Given the description of an element on the screen output the (x, y) to click on. 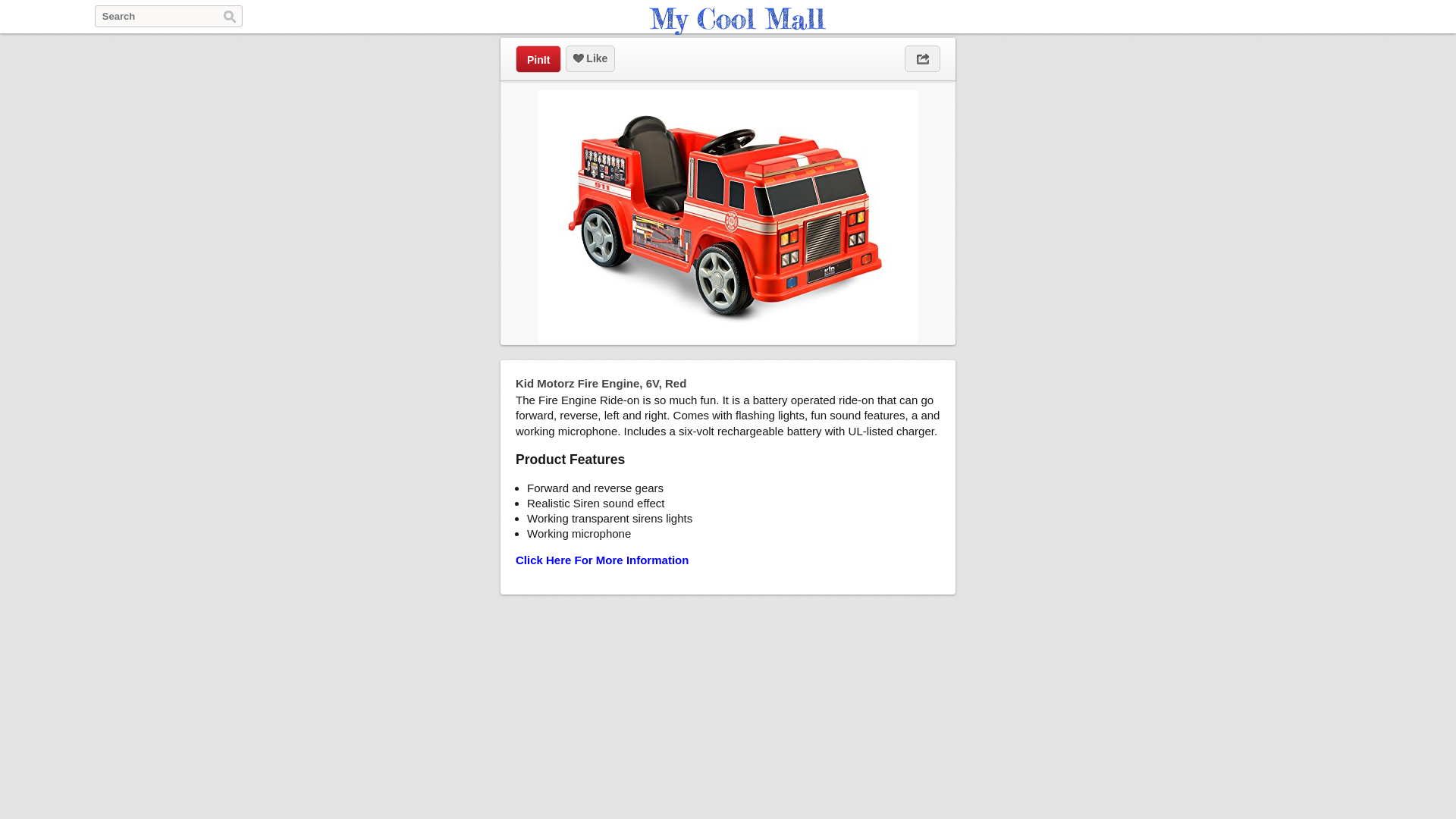
Like (590, 58)
Click Here For More Information (601, 559)
Search (229, 16)
PinIt (537, 58)
Search (229, 16)
